Given the description of an element on the screen output the (x, y) to click on. 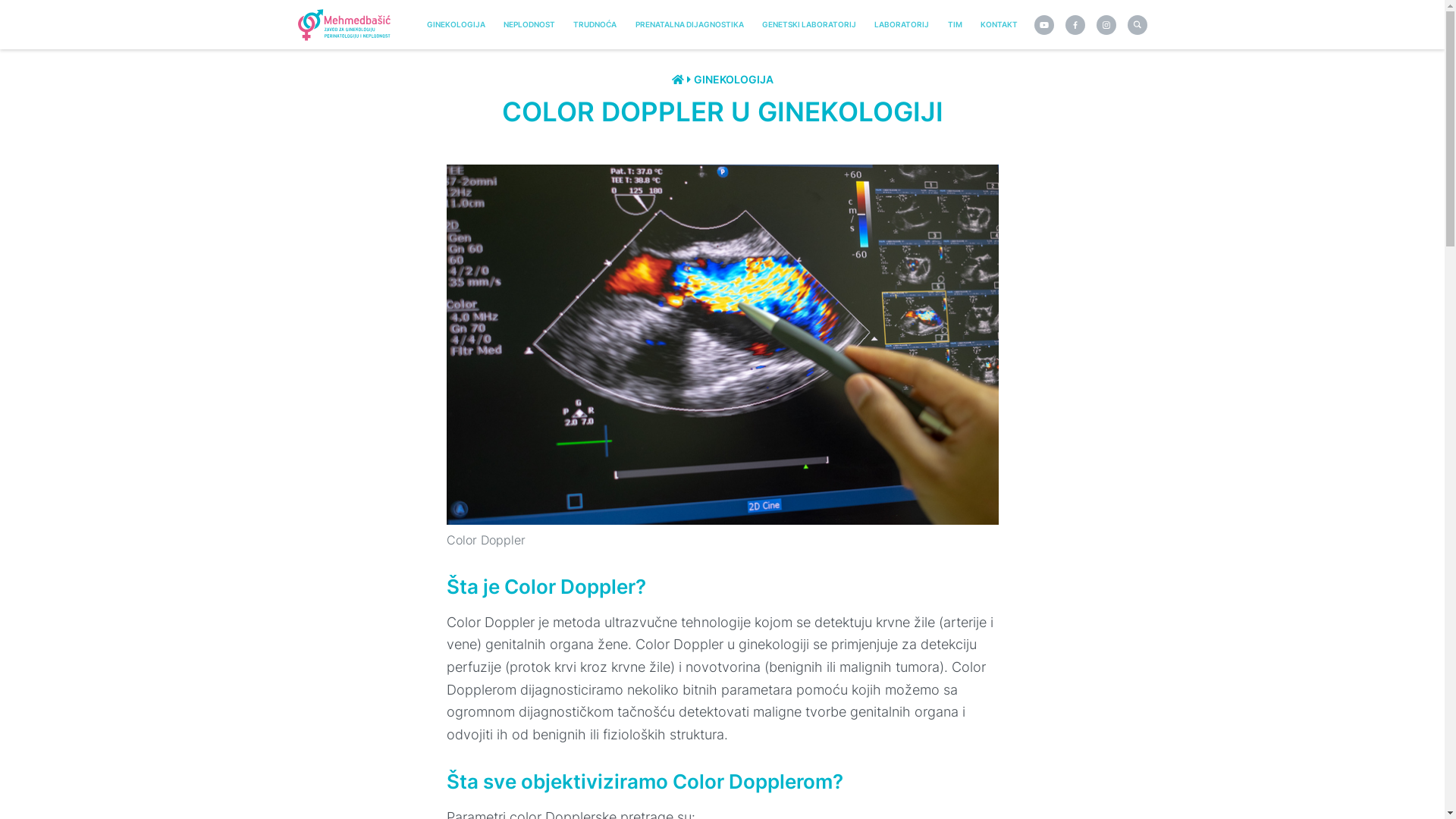
Pretraga Element type: hover (1136, 24)
PRENATALNA DIJAGNOSTIKA Element type: text (689, 24)
KONTAKT Element type: text (998, 24)
LABORATORIJ Element type: text (901, 24)
TIM Element type: text (954, 24)
GINEKOLOGIJA Element type: text (732, 78)
GINEKOLOGIJA Element type: text (455, 24)
mehmedbasic.ba Element type: hover (350, 24)
NEPLODNOST Element type: text (529, 24)
GENETSKI LABORATORIJ Element type: text (808, 24)
